Given the description of an element on the screen output the (x, y) to click on. 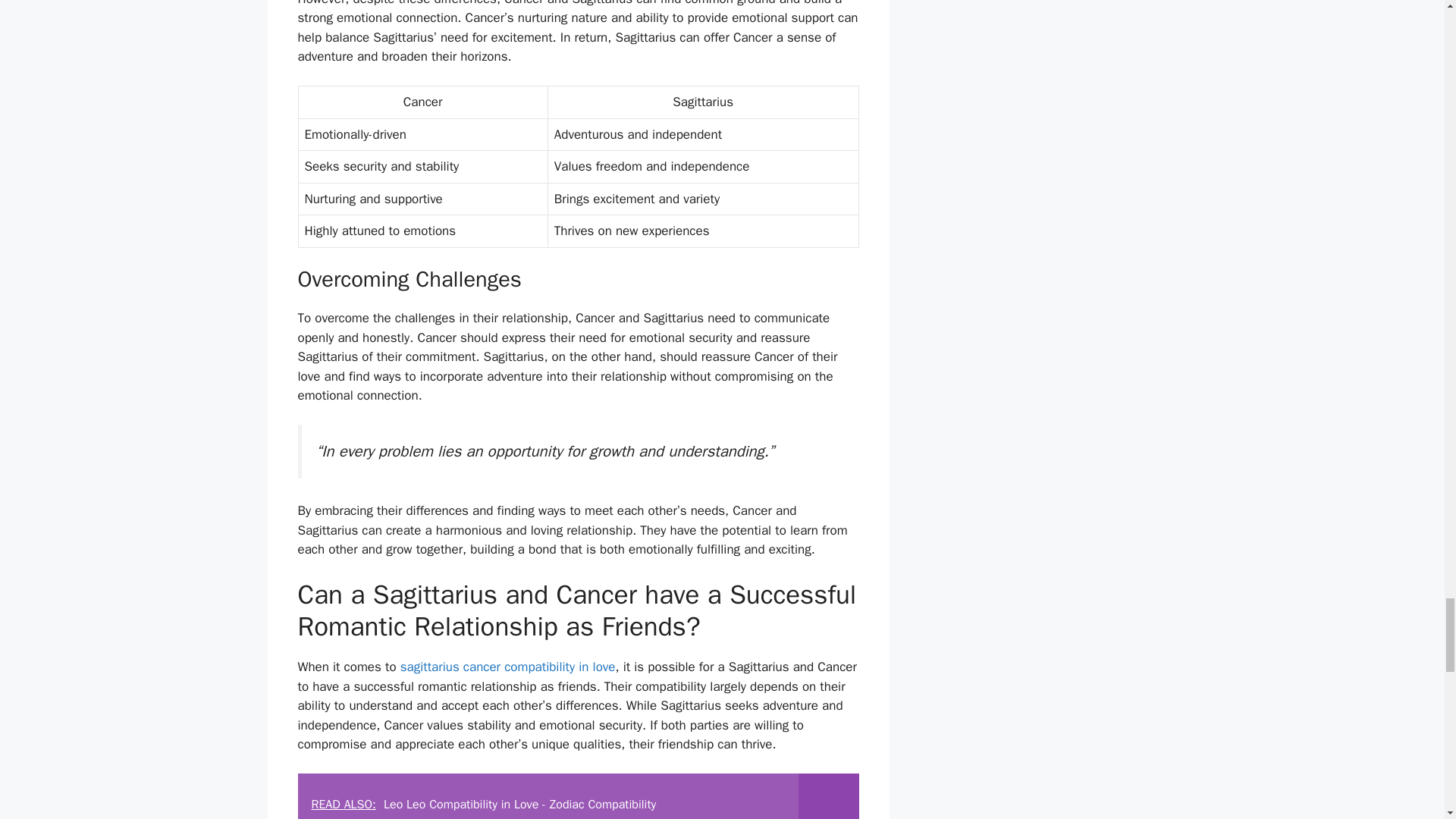
sagittarius cancer compatibility in love (507, 666)
